Given the description of an element on the screen output the (x, y) to click on. 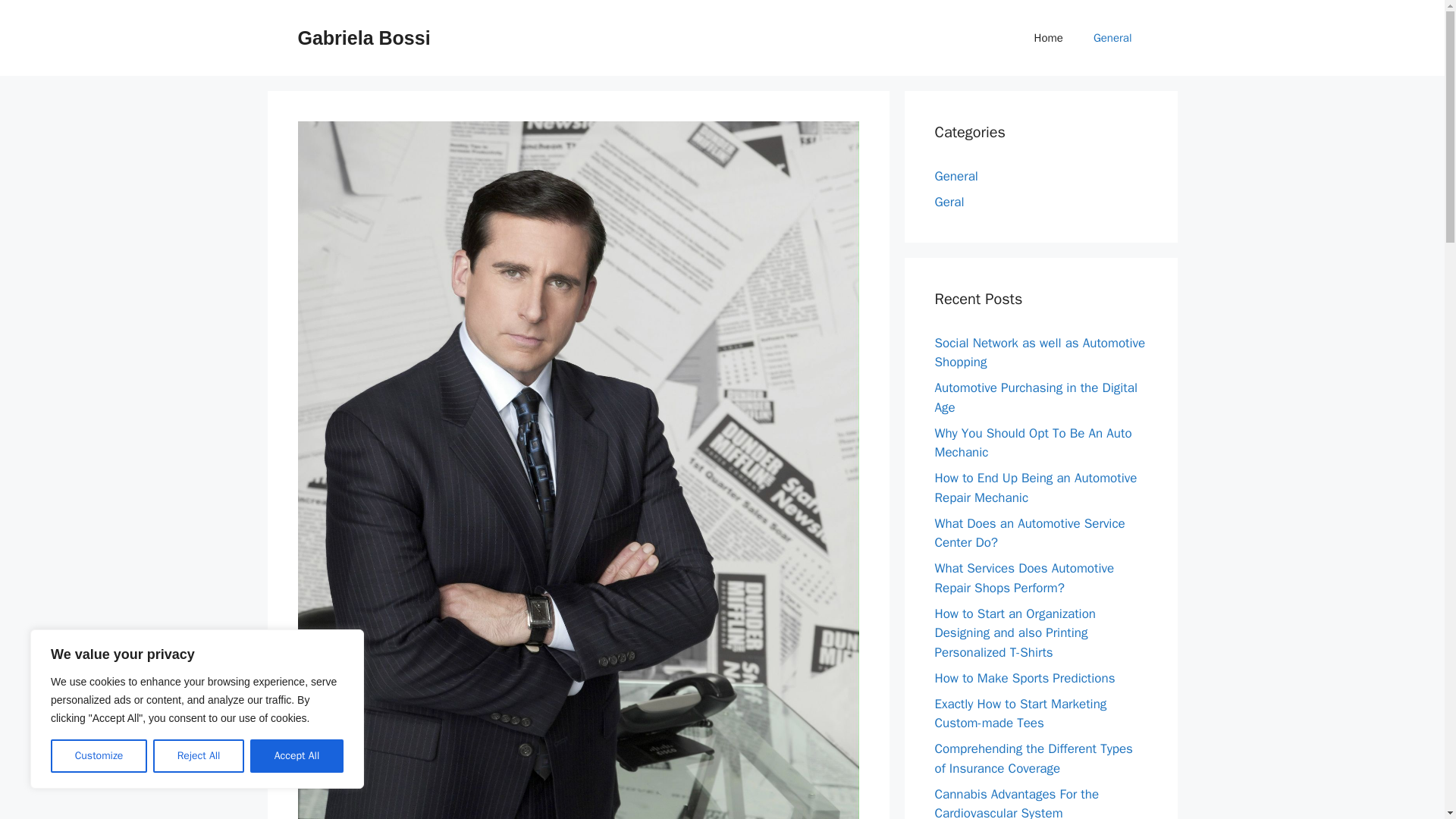
Geral (948, 201)
Accept All (296, 756)
What Does an Automotive Service Center Do? (1029, 533)
General (1112, 37)
How to End Up Being an Automotive Repair Mechanic (1035, 488)
What Services Does Automotive Repair Shops Perform? (1023, 578)
Home (1048, 37)
General (955, 176)
Social Network as well as Automotive Shopping (1039, 352)
Gabriela Bossi (363, 37)
Reject All (198, 756)
Why You Should Opt To Be An Auto Mechanic (1032, 442)
Customize (98, 756)
Automotive Purchasing in the Digital Age (1035, 397)
